Given the description of an element on the screen output the (x, y) to click on. 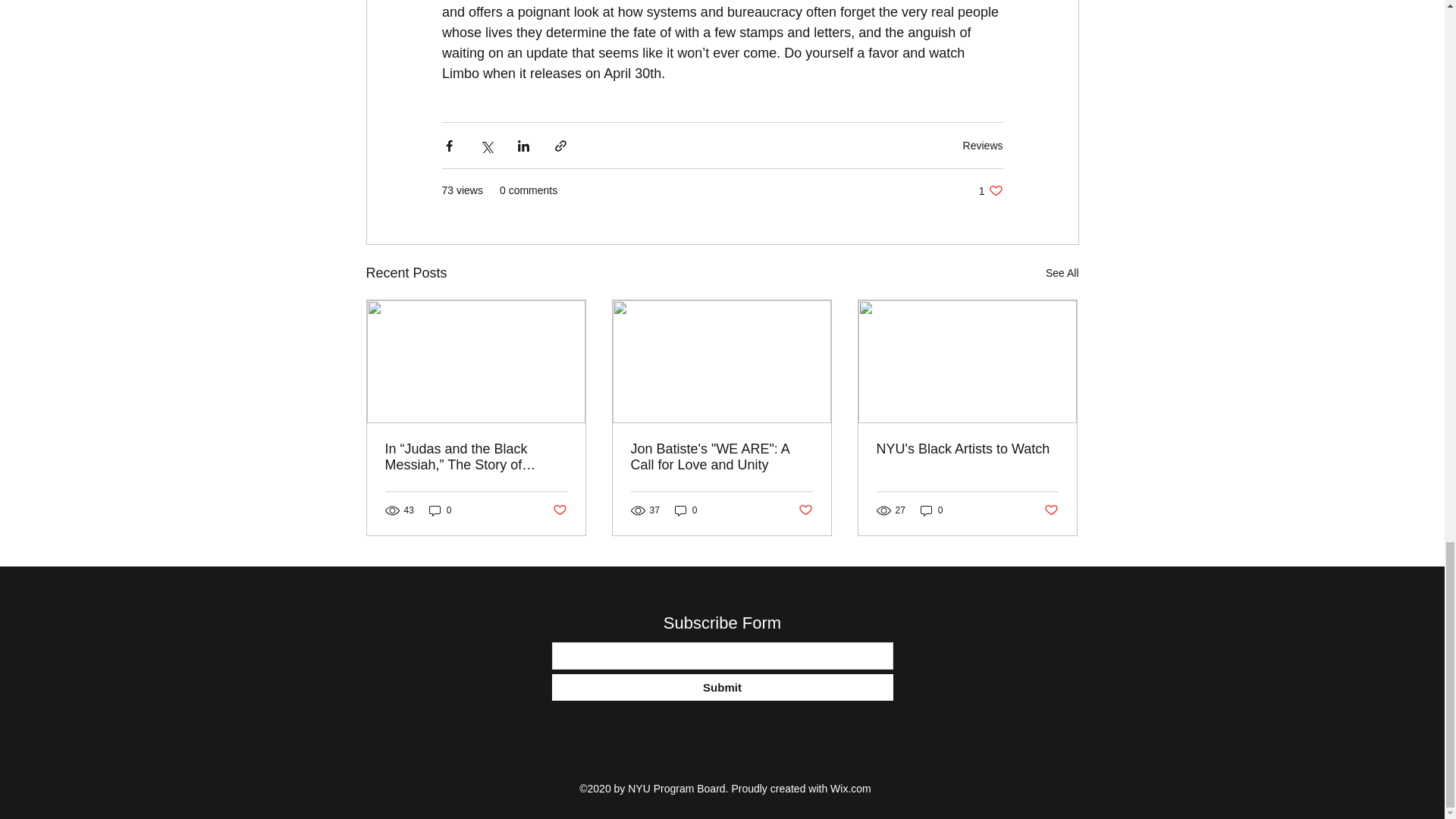
Reviews (982, 145)
